Given the description of an element on the screen output the (x, y) to click on. 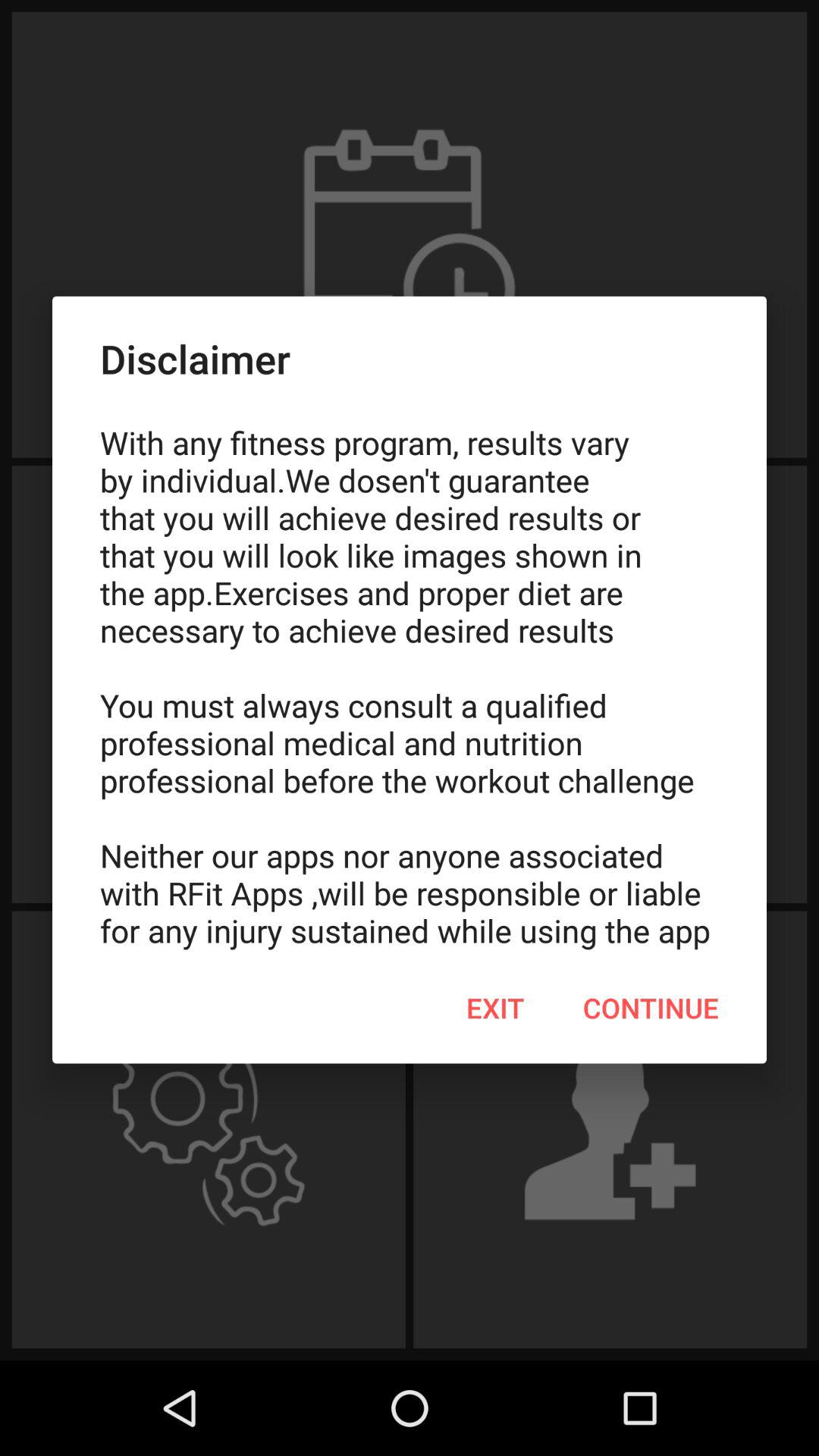
press item below with any fitness item (650, 1007)
